Given the description of an element on the screen output the (x, y) to click on. 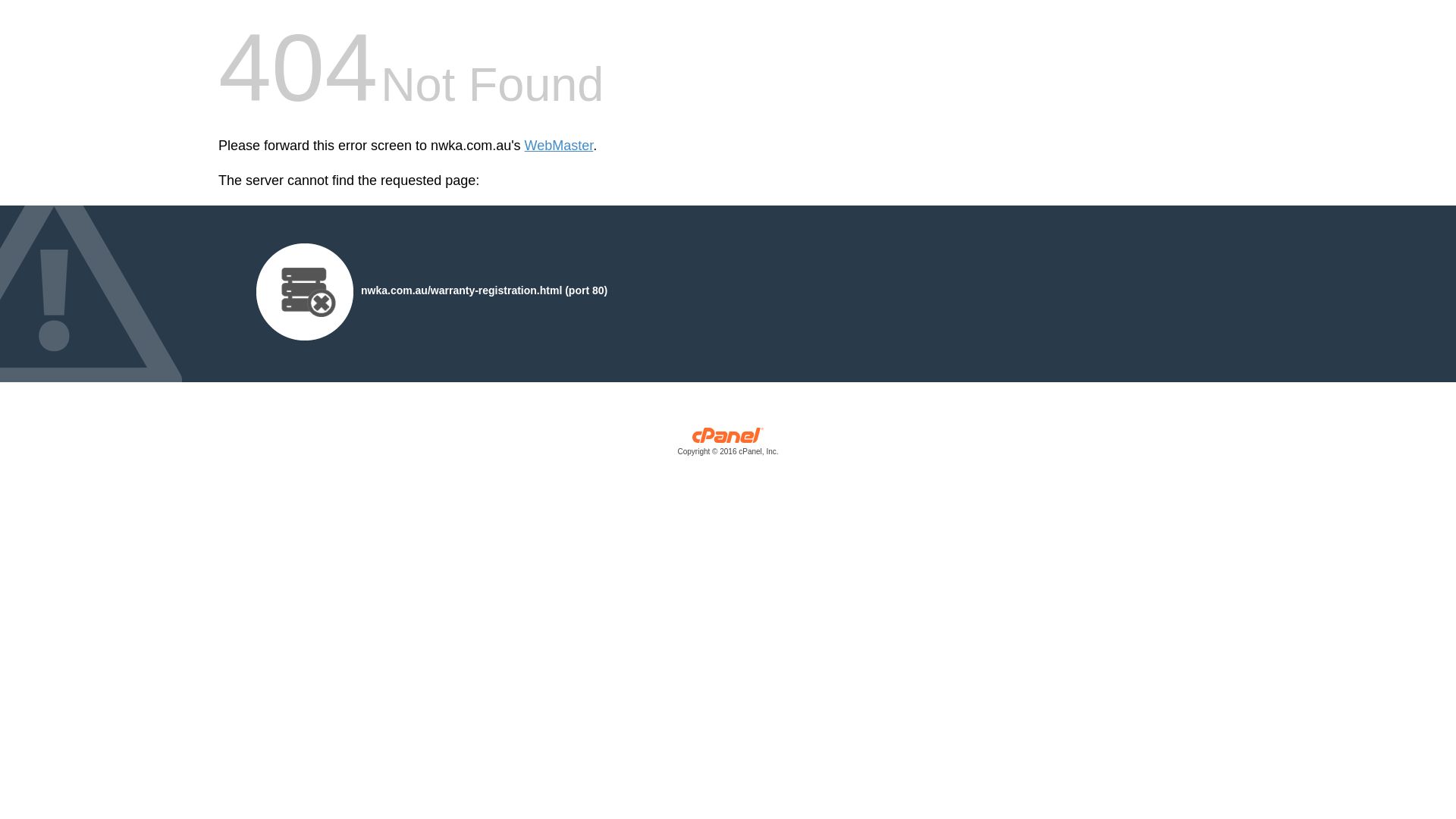
WebMaster Element type: text (558, 145)
